Given the description of an element on the screen output the (x, y) to click on. 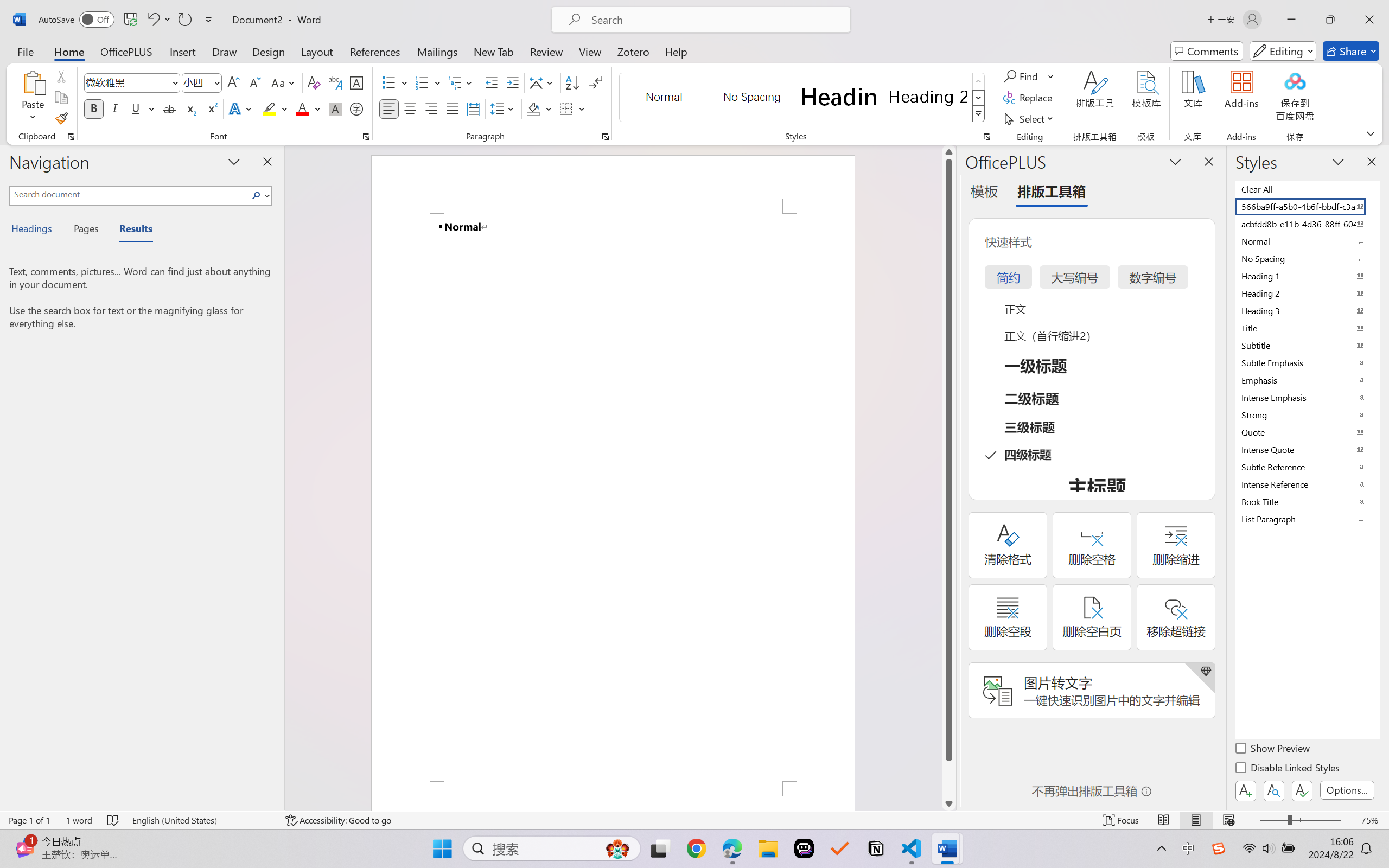
Close (1369, 19)
Intense Emphasis (1306, 397)
Character Border (356, 82)
Quick Access Toolbar (127, 19)
Font Color Red (302, 108)
Zotero (632, 51)
Results (130, 229)
Line up (948, 151)
Insert (182, 51)
Replace... (1029, 97)
